Given the description of an element on the screen output the (x, y) to click on. 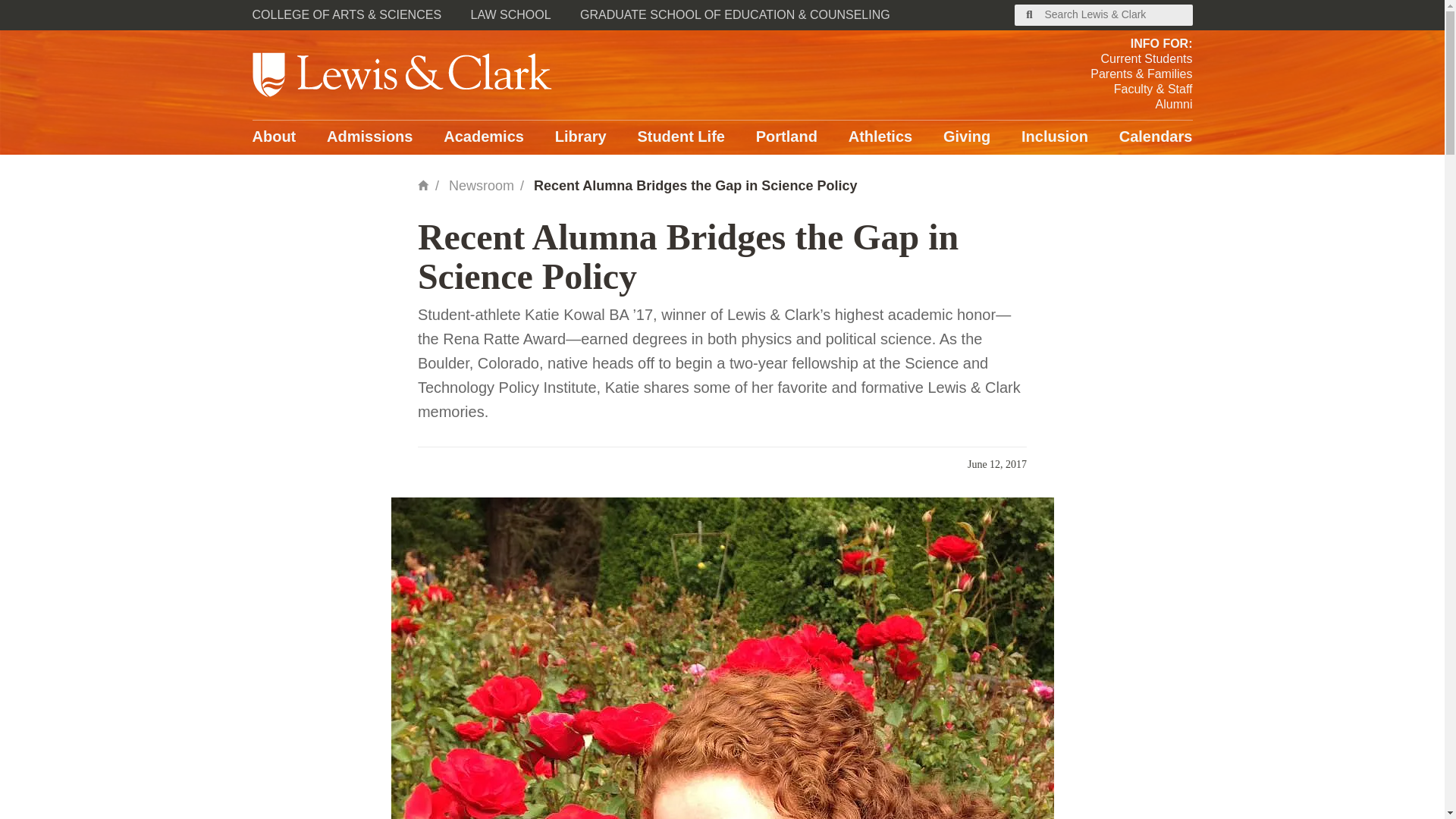
Giving (966, 137)
Newsroom (480, 185)
Calendars (1155, 137)
Submit Search (1029, 14)
Alumni (1141, 104)
Lewis and Clark (401, 74)
LAW SCHOOL (510, 15)
Home (423, 184)
Athletics (880, 137)
Inclusion (1054, 137)
